Given the description of an element on the screen output the (x, y) to click on. 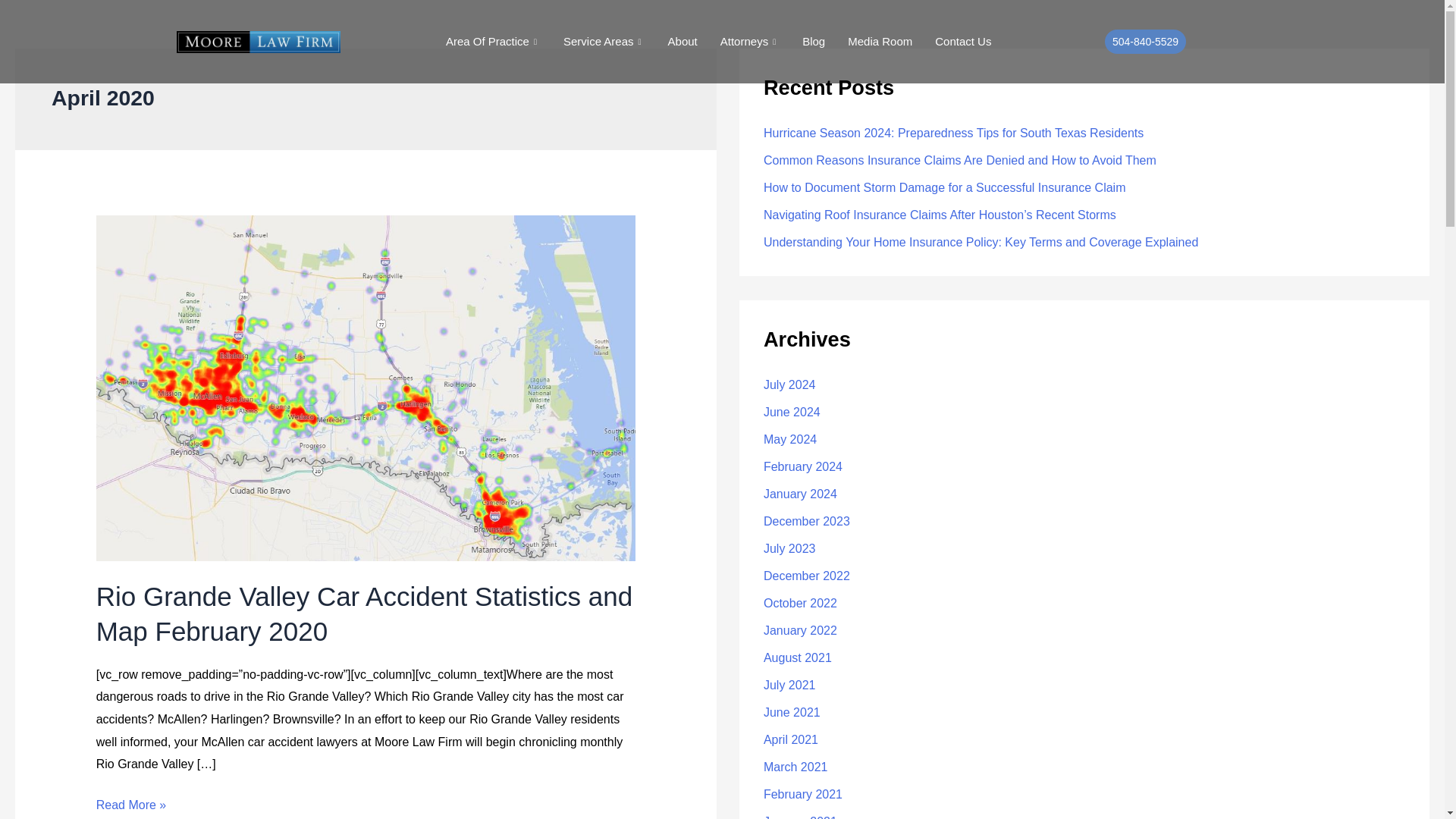
Service Areas (603, 41)
Area Of Practice (492, 41)
